Given the description of an element on the screen output the (x, y) to click on. 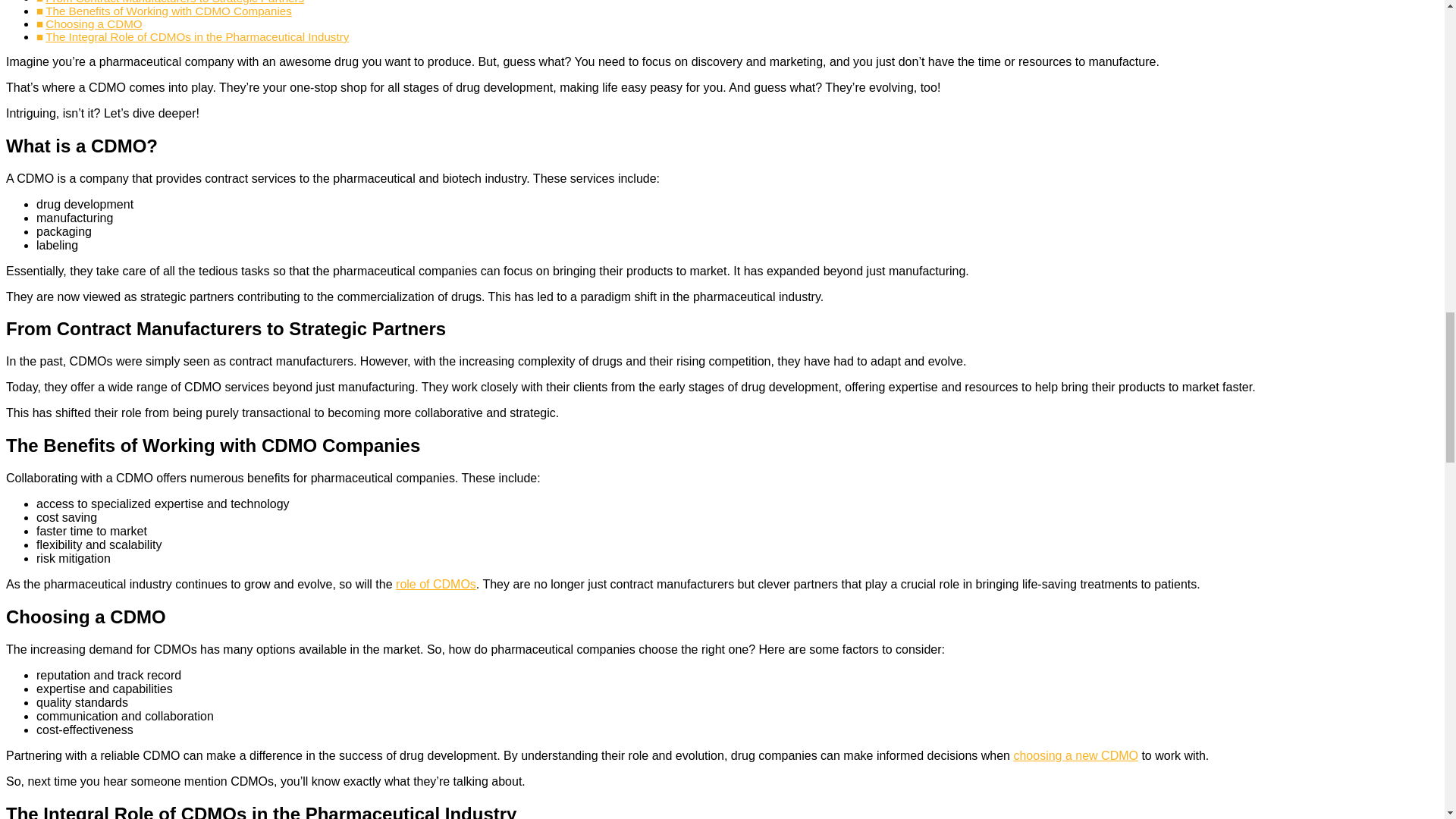
The Benefits of Working with CDMO Companies (168, 10)
From Contract Manufacturers to Strategic Partners (174, 2)
The Benefits of Working with CDMO Companies (168, 10)
The Integral Role of CDMOs in the Pharmaceutical Industry (197, 36)
From Contract Manufacturers to Strategic Partners (174, 2)
Choosing a CDMO (93, 23)
Choosing a CDMO (93, 23)
The Integral Role of CDMOs in the Pharmaceutical Industry (197, 36)
